Given the description of an element on the screen output the (x, y) to click on. 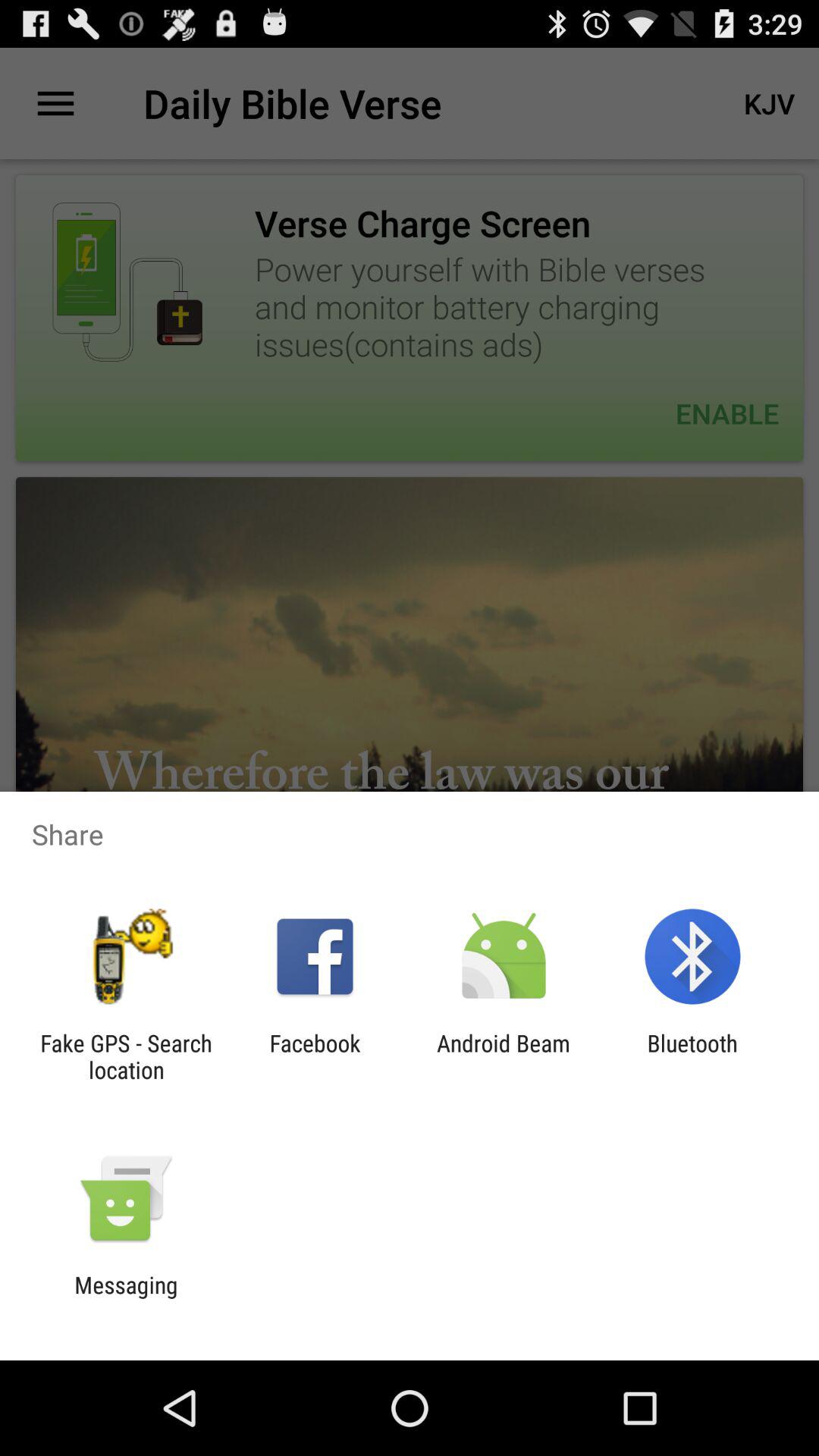
click app to the left of the bluetooth app (503, 1056)
